Given the description of an element on the screen output the (x, y) to click on. 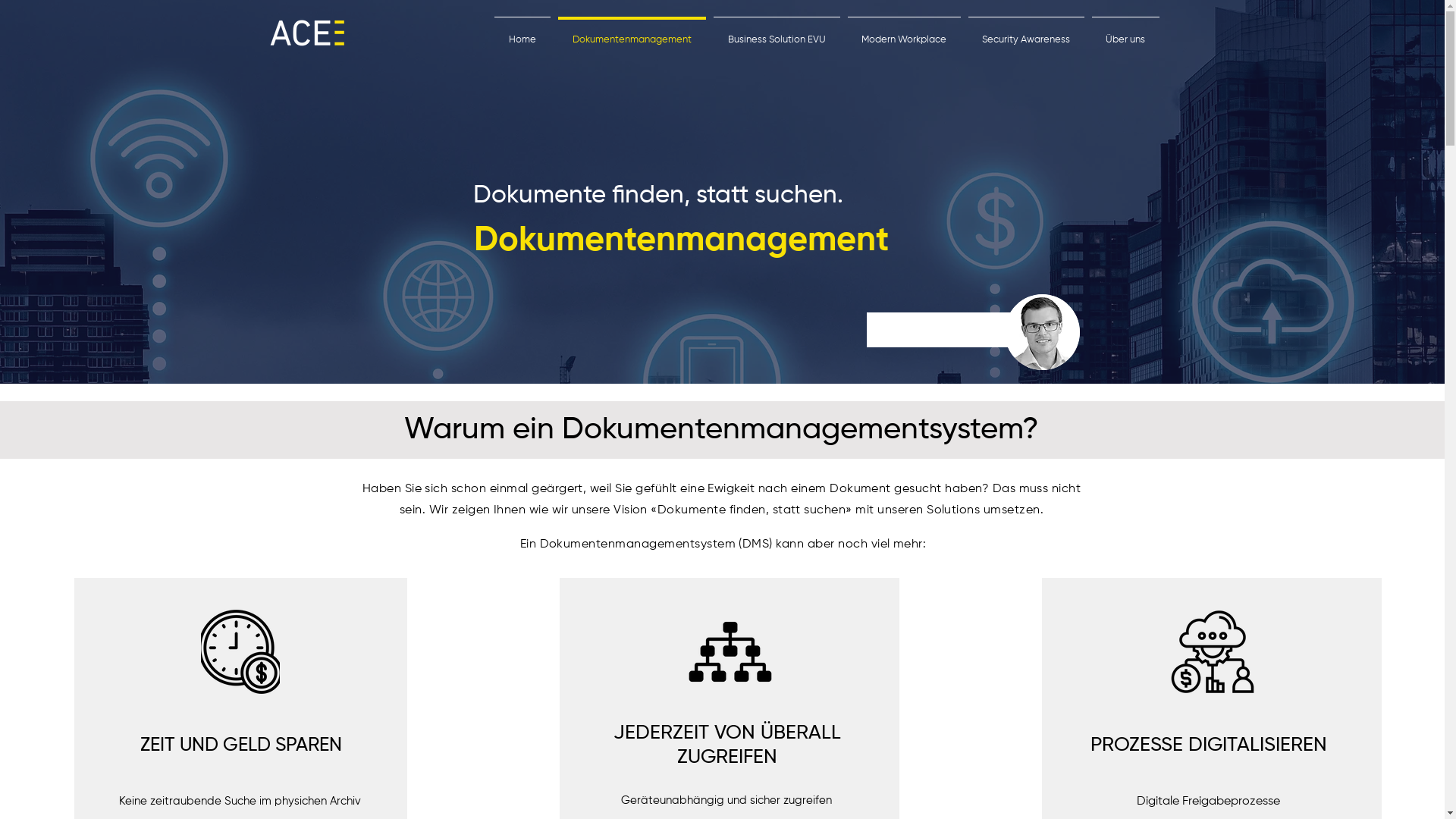
Modern Workplace Element type: text (903, 33)
Home Element type: text (521, 33)
Security Awareness Element type: text (1026, 33)
Business Solution EVU Element type: text (776, 33)
Dokumentenmanagement Element type: text (631, 33)
Embedded Content Element type: hover (941, 343)
